Given the description of an element on the screen output the (x, y) to click on. 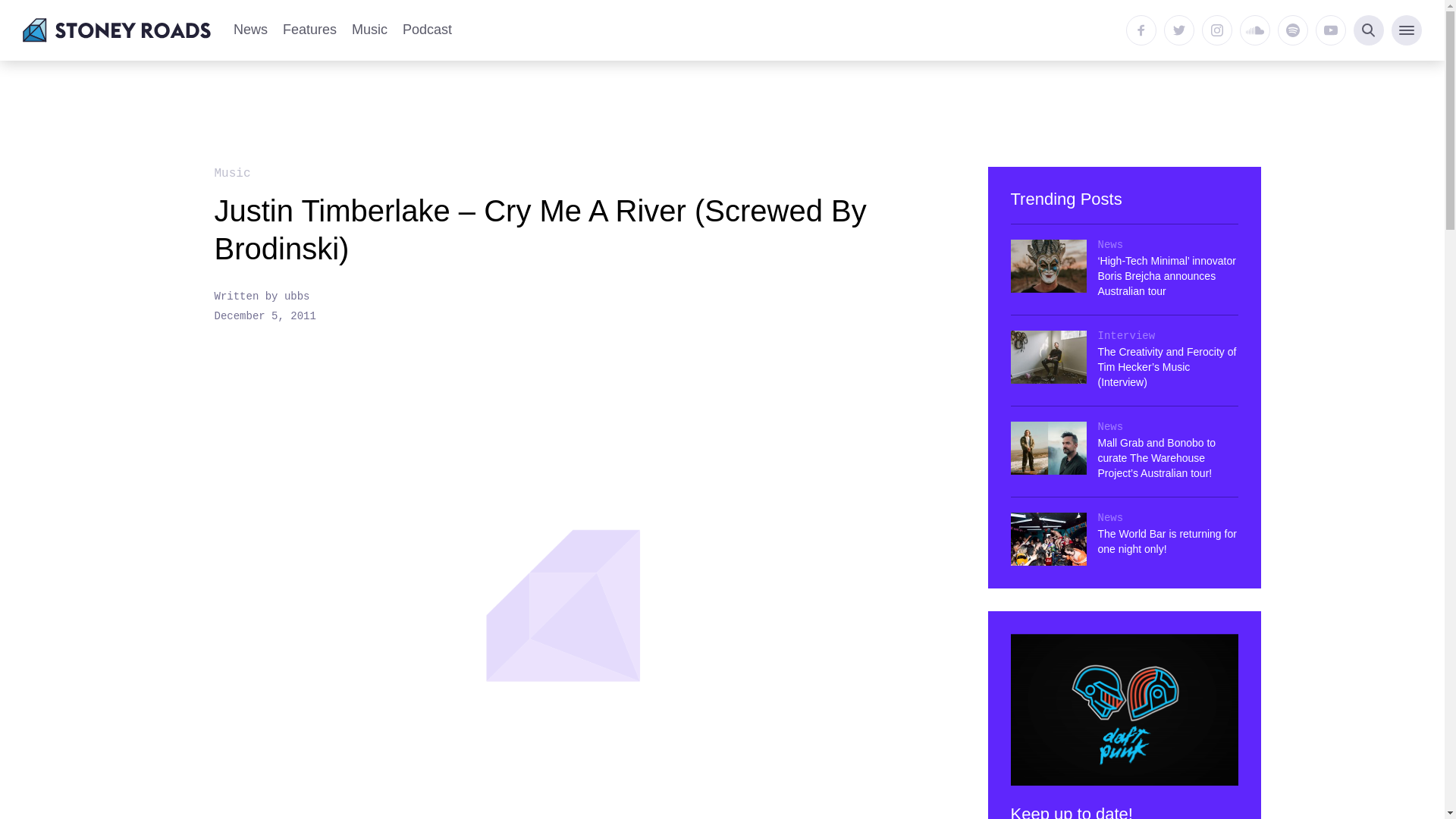
Features (309, 30)
Music (369, 30)
Podcast (427, 30)
News (249, 30)
